Given the description of an element on the screen output the (x, y) to click on. 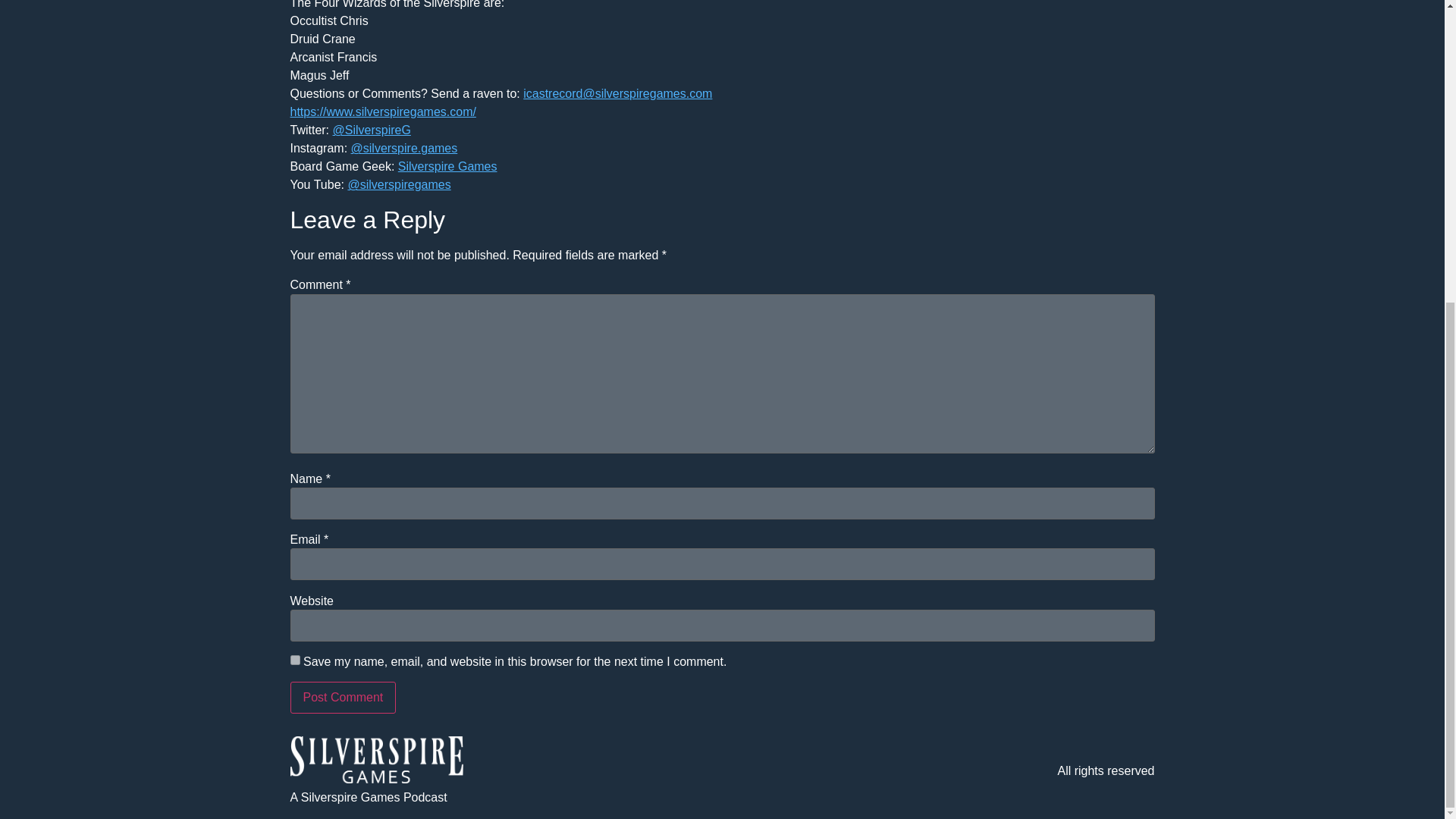
yes (294, 660)
Post Comment (342, 697)
Silverspire Games (447, 165)
